Given the description of an element on the screen output the (x, y) to click on. 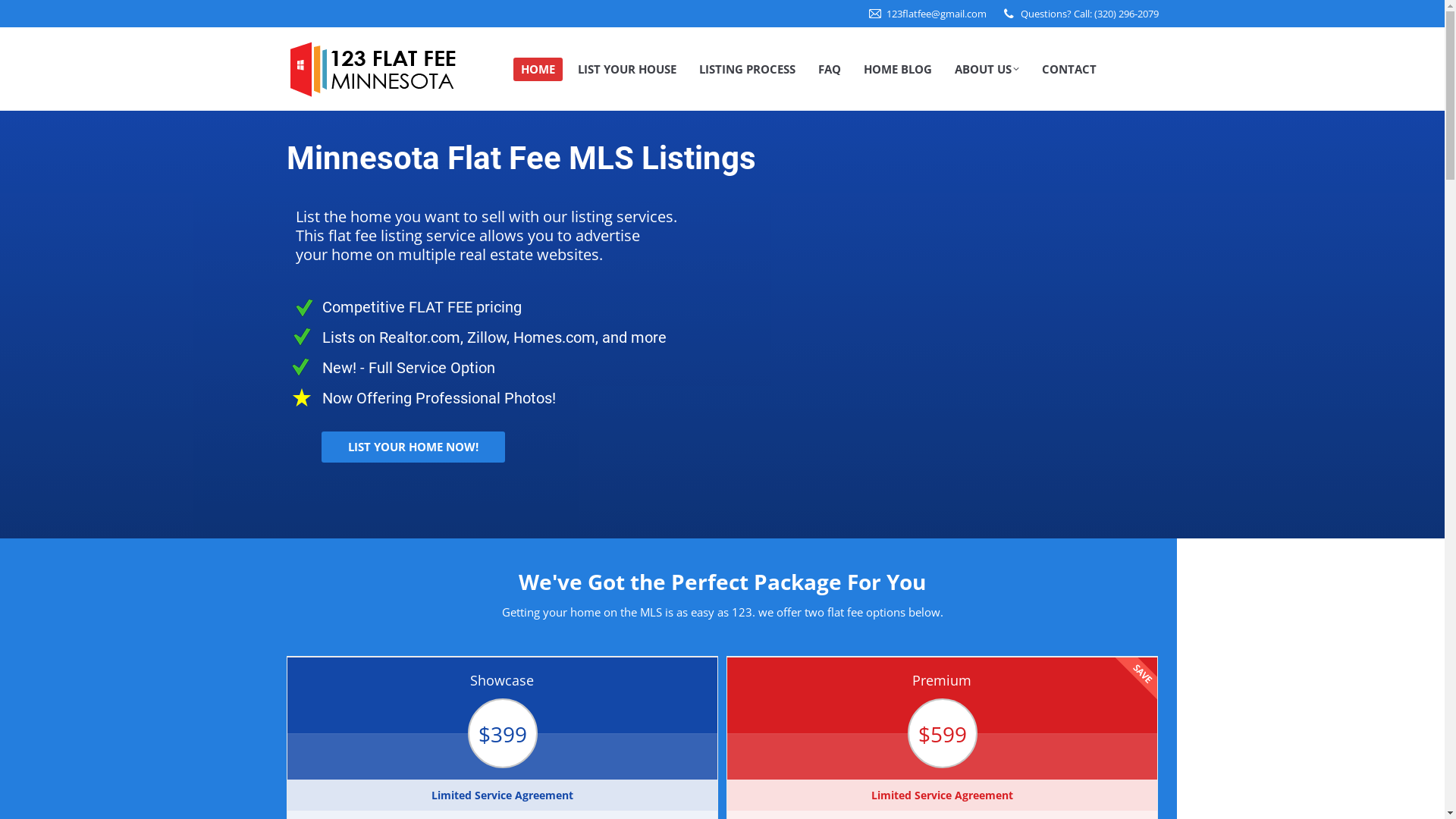
ABOUT US Element type: text (986, 69)
HOME BLOG Element type: text (896, 69)
HOME Element type: text (536, 69)
LIST YOUR HOUSE Element type: text (627, 69)
LISTING PROCESS Element type: text (747, 69)
FAQ Element type: text (828, 69)
CONTACT Element type: text (1069, 69)
LIST YOUR HOME NOW! Element type: text (413, 446)
